Given the description of an element on the screen output the (x, y) to click on. 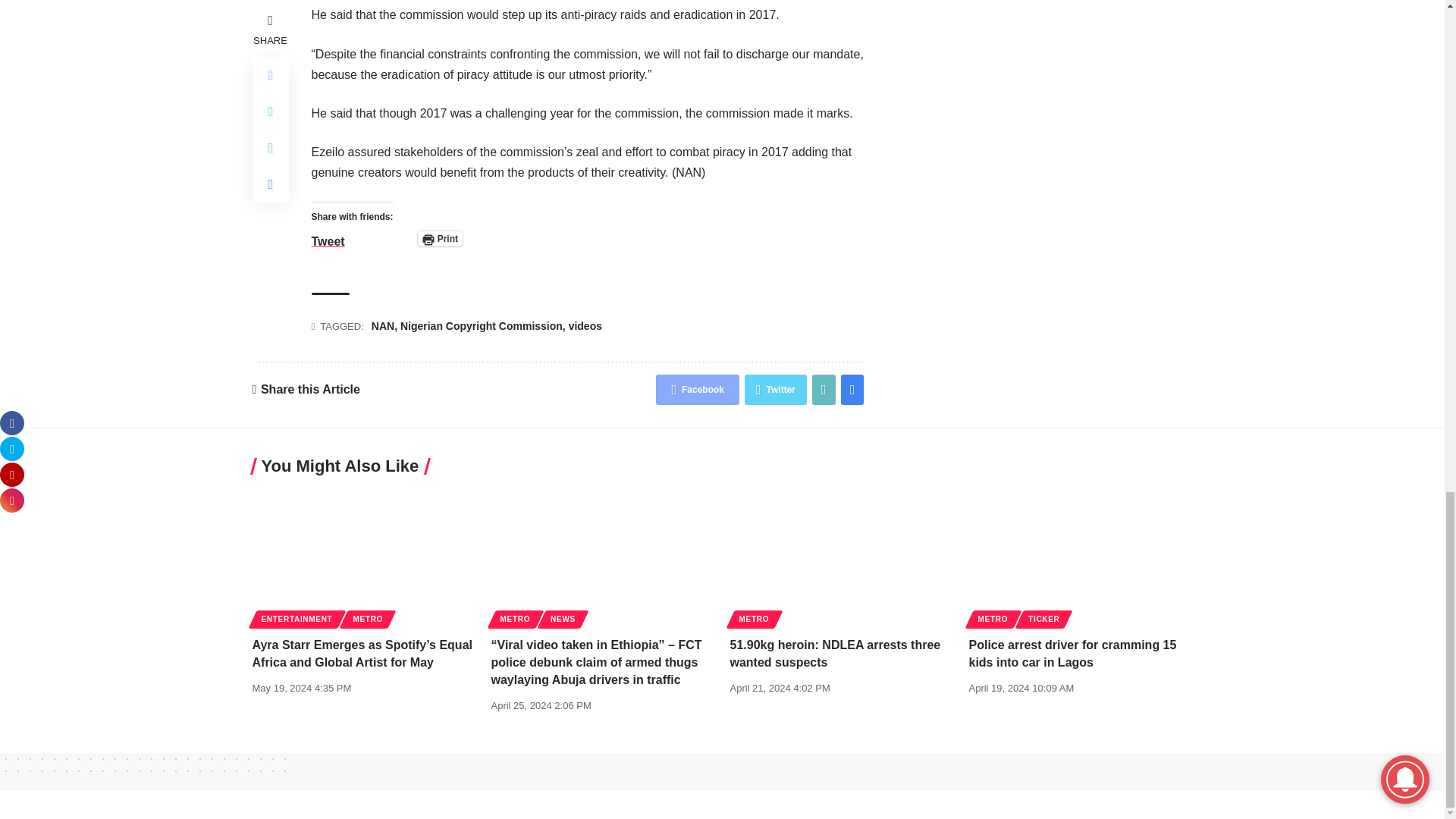
Click to print (440, 238)
51.90kg heroin: NDLEA arrests three wanted suspects (841, 556)
Police arrest driver for cramming 15 kids into car in Lagos (1080, 556)
